Given the description of an element on the screen output the (x, y) to click on. 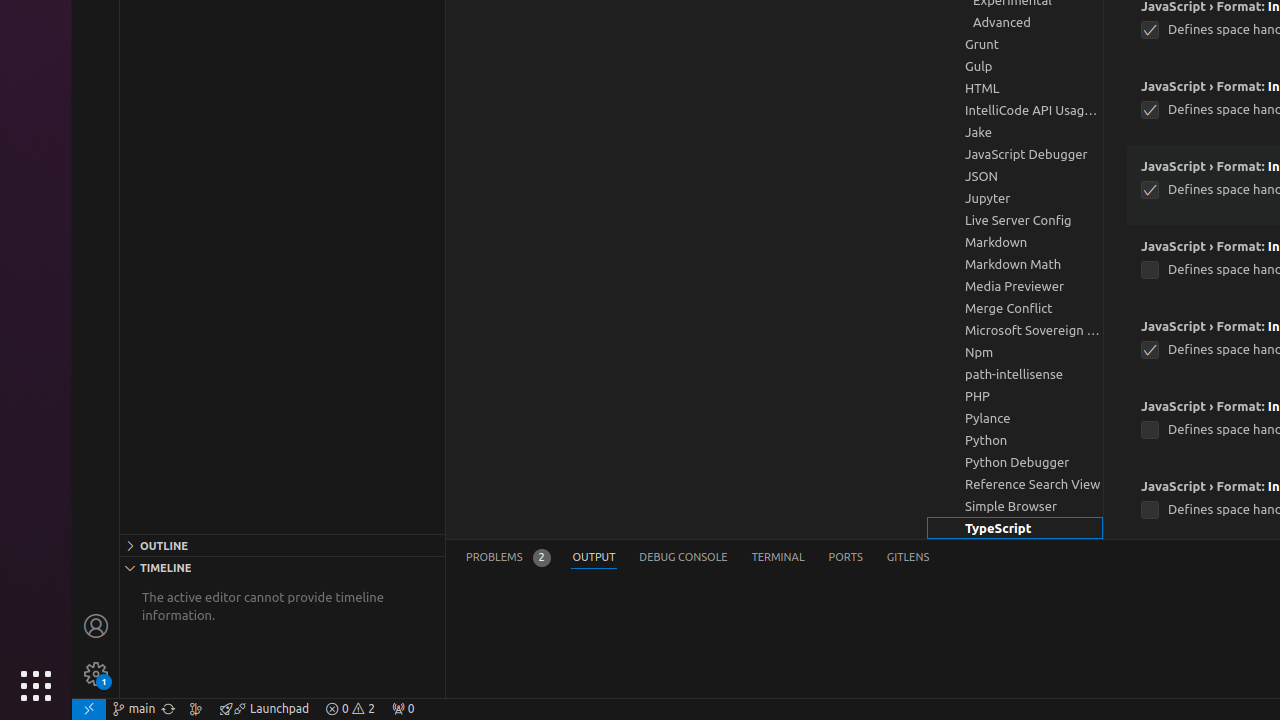
Reference Search View, group Element type: tree-item (1015, 484)
JavaScript Debugger, group Element type: tree-item (1015, 154)
Debug Console (Ctrl+Shift+Y) Element type: page-tab (683, 557)
Grunt, group Element type: tree-item (1015, 44)
path-intellisense, group Element type: tree-item (1015, 374)
